Given the description of an element on the screen output the (x, y) to click on. 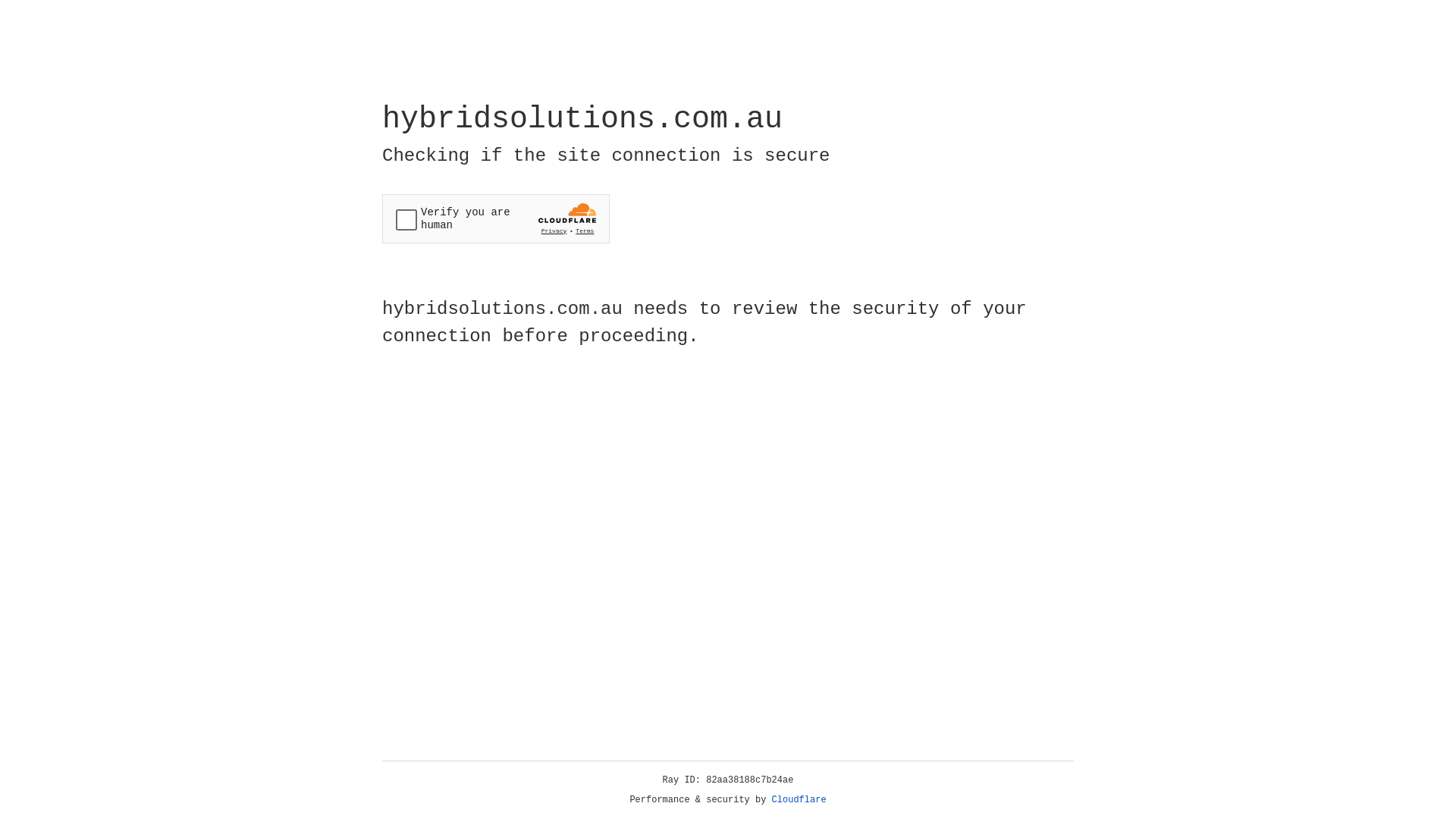
Cloudflare Element type: text (798, 799)
Widget containing a Cloudflare security challenge Element type: hover (495, 218)
